Given the description of an element on the screen output the (x, y) to click on. 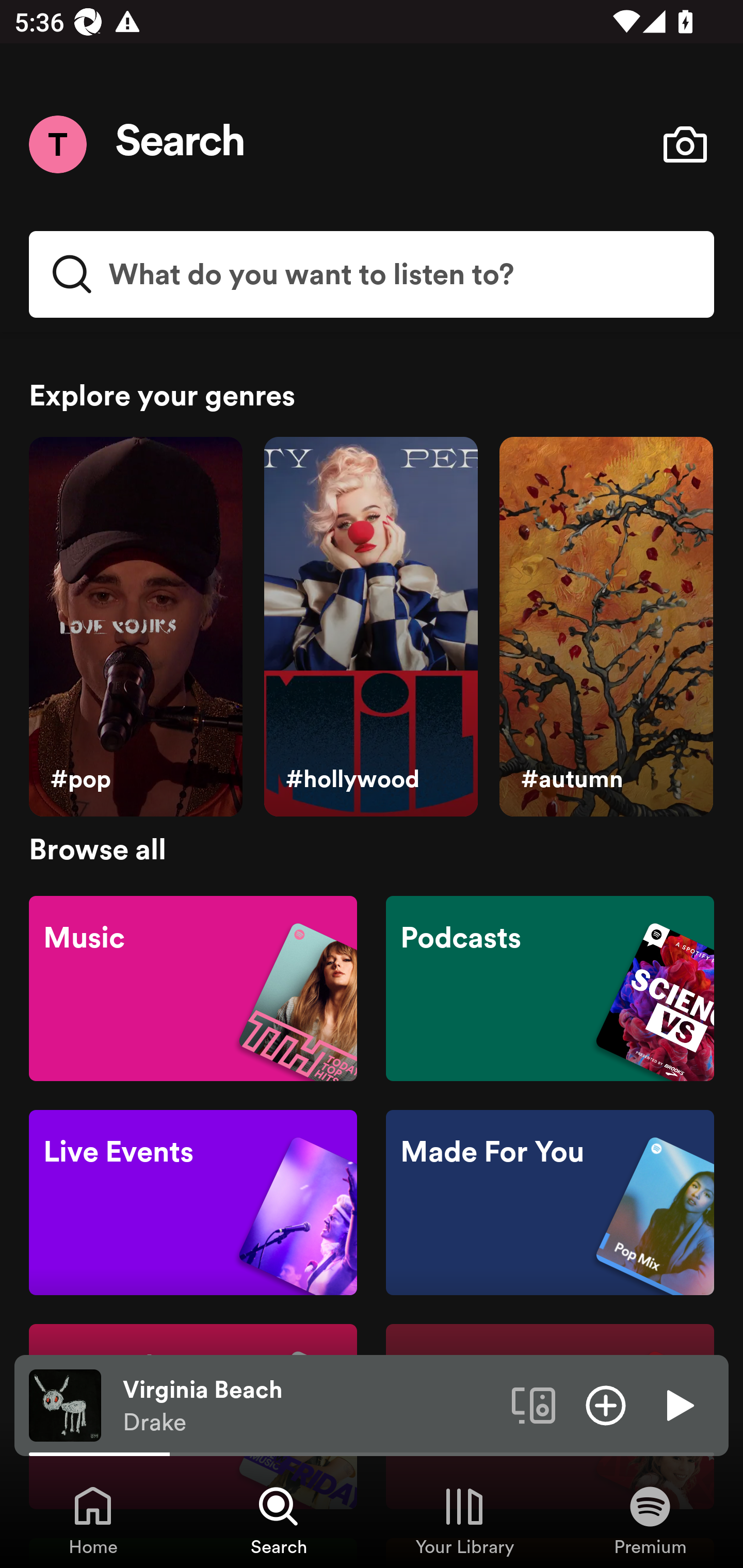
Menu (57, 144)
Open camera (685, 145)
Search (180, 144)
#pop (135, 626)
#hollywood (370, 626)
#autumn (606, 626)
Music (192, 987)
Podcasts (549, 987)
Live Events (192, 1202)
Made For You (549, 1202)
Virginia Beach Drake (309, 1405)
The cover art of the currently playing track (64, 1404)
Connect to a device. Opens the devices menu (533, 1404)
Add item (605, 1404)
Play (677, 1404)
Home, Tab 1 of 4 Home Home (92, 1519)
Search, Tab 2 of 4 Search Search (278, 1519)
Your Library, Tab 3 of 4 Your Library Your Library (464, 1519)
Premium, Tab 4 of 4 Premium Premium (650, 1519)
